Given the description of an element on the screen output the (x, y) to click on. 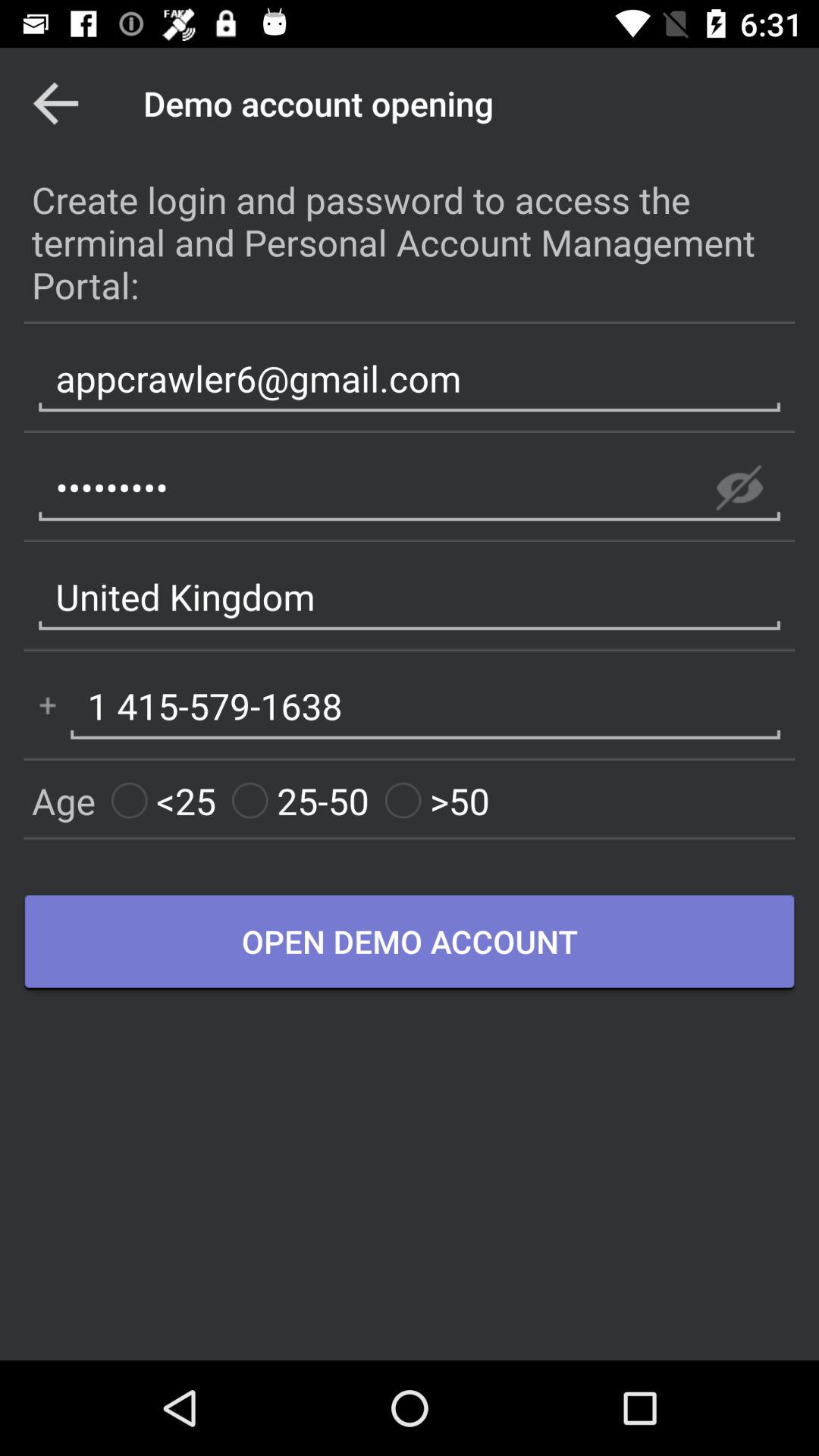
press the icon above the united kingdom item (739, 487)
